Given the description of an element on the screen output the (x, y) to click on. 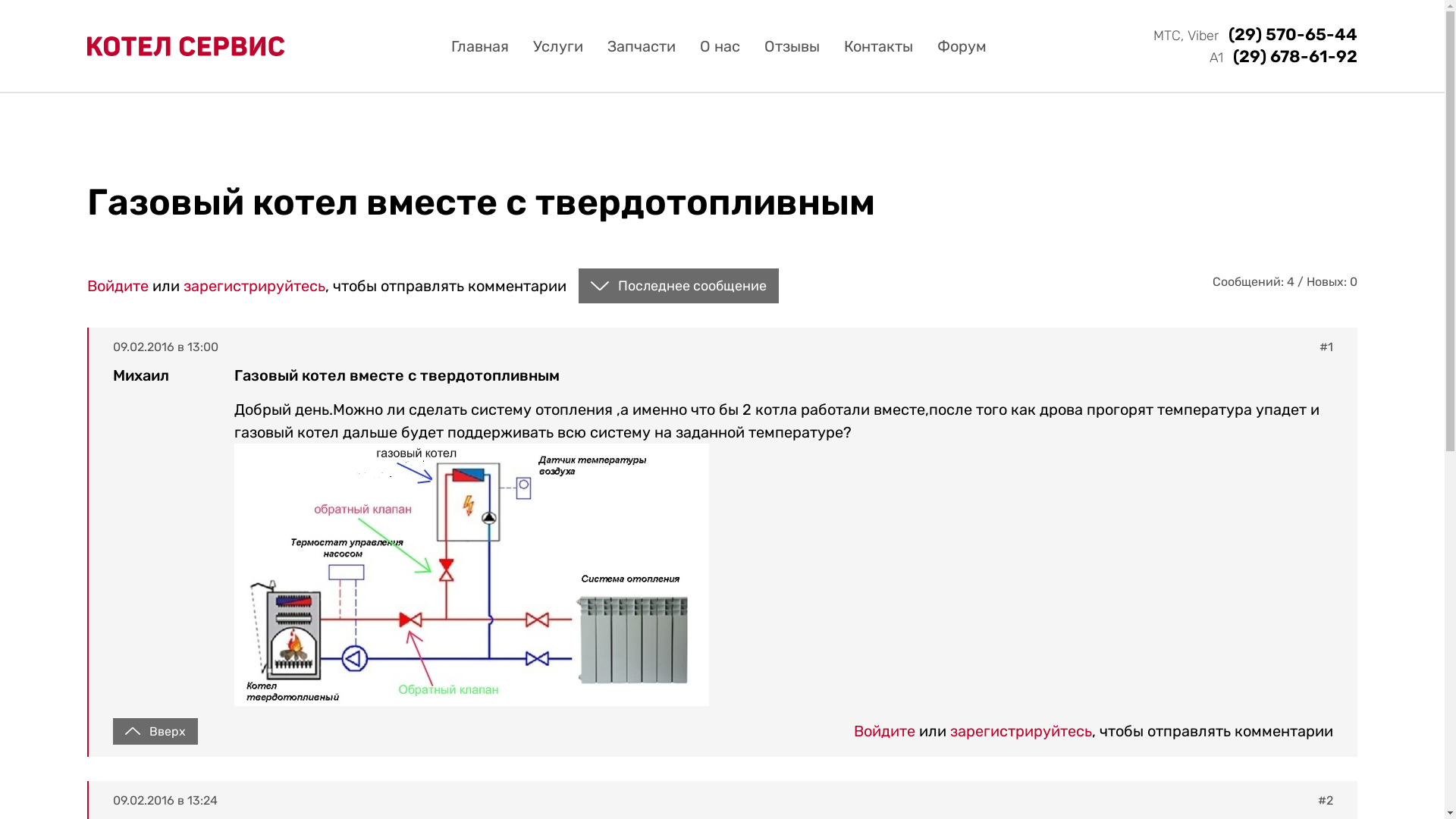
#2 Element type: text (1325, 800)
#1 Element type: text (1326, 346)
